Given the description of an element on the screen output the (x, y) to click on. 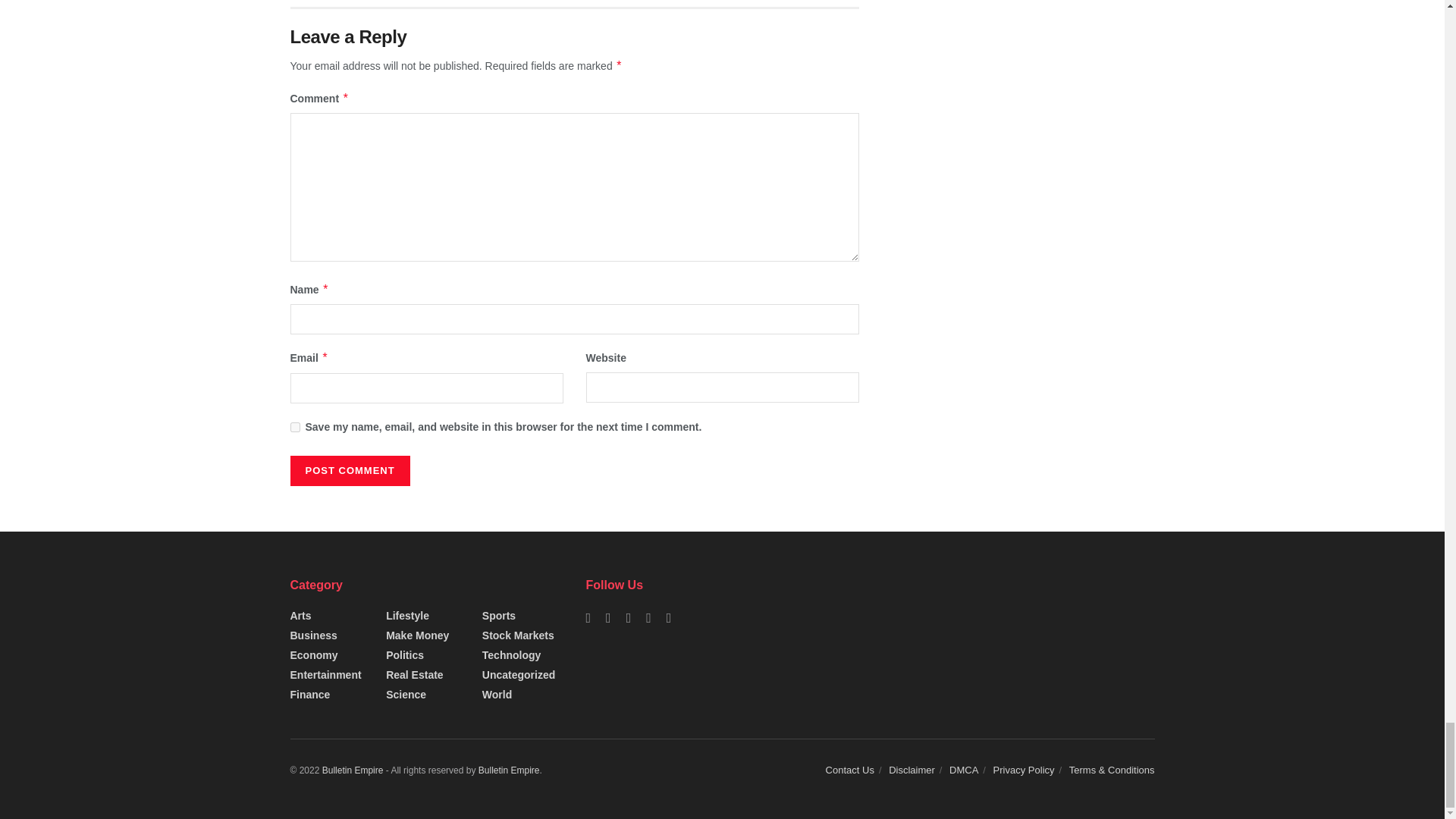
Post Comment (349, 470)
yes (294, 427)
